Given the description of an element on the screen output the (x, y) to click on. 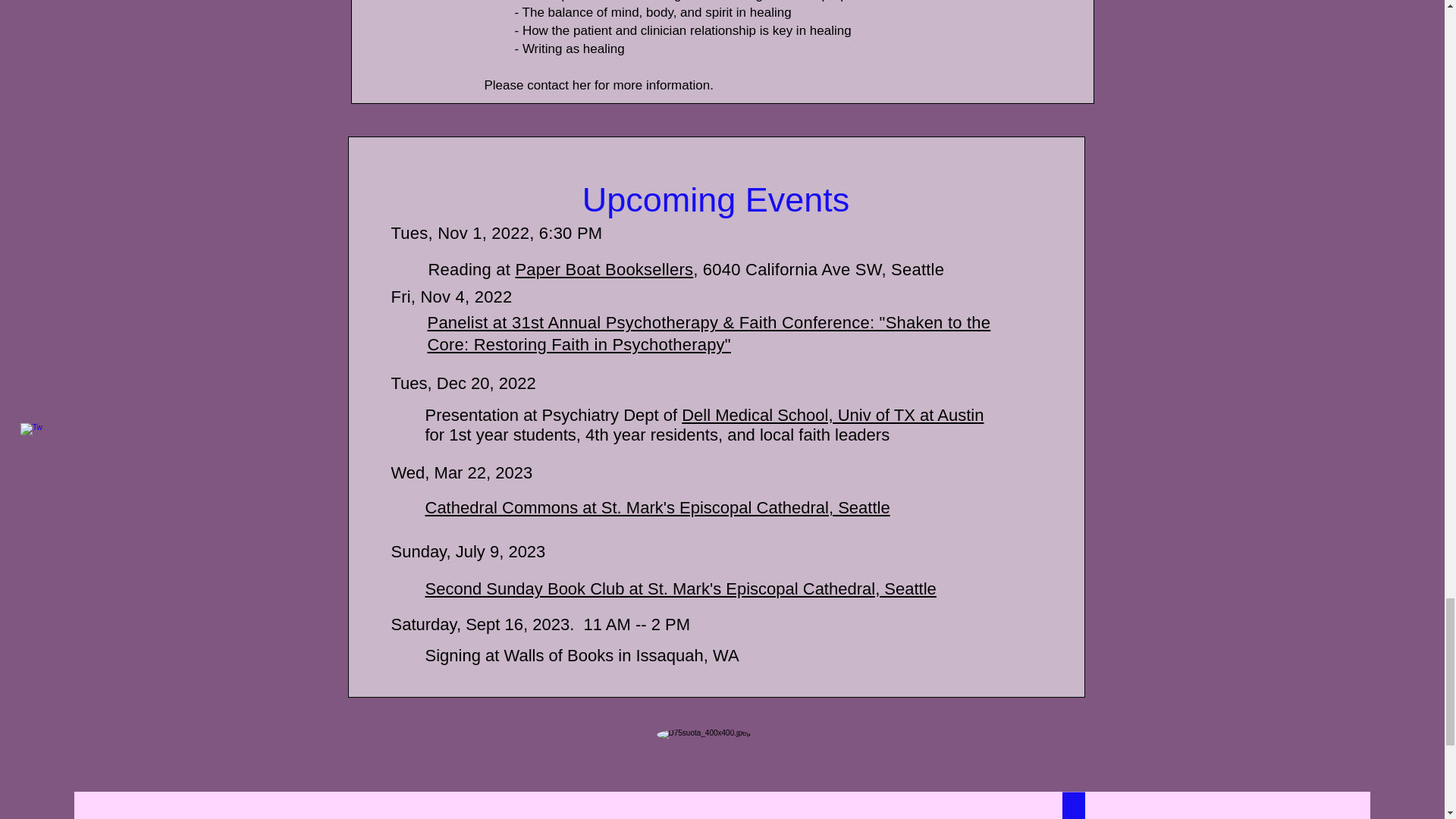
Cathedral Commons at St. Mark's Episcopal Cathedral, Seattle (657, 506)
Paper Boat Booksellers (604, 269)
Dell Medical School, Univ of TX at Austin (832, 415)
